Given the description of an element on the screen output the (x, y) to click on. 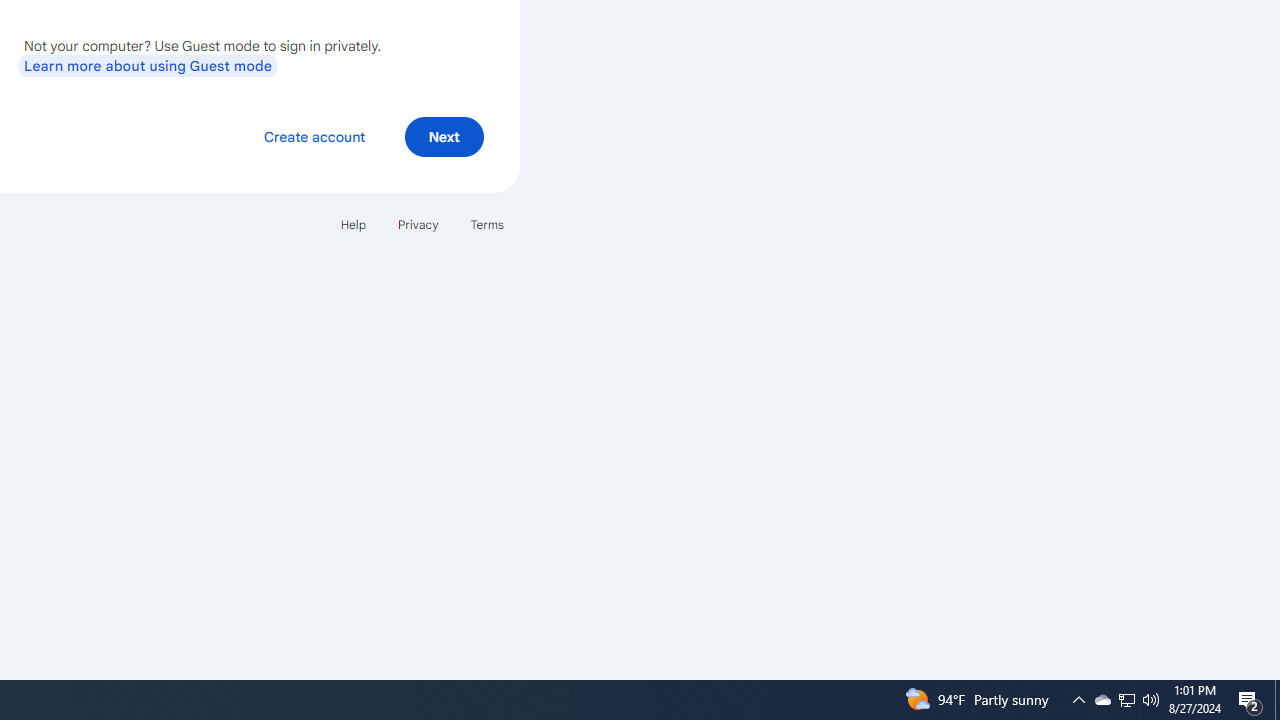
Next (443, 135)
Create account (314, 135)
Learn more about using Guest mode (148, 65)
